Given the description of an element on the screen output the (x, y) to click on. 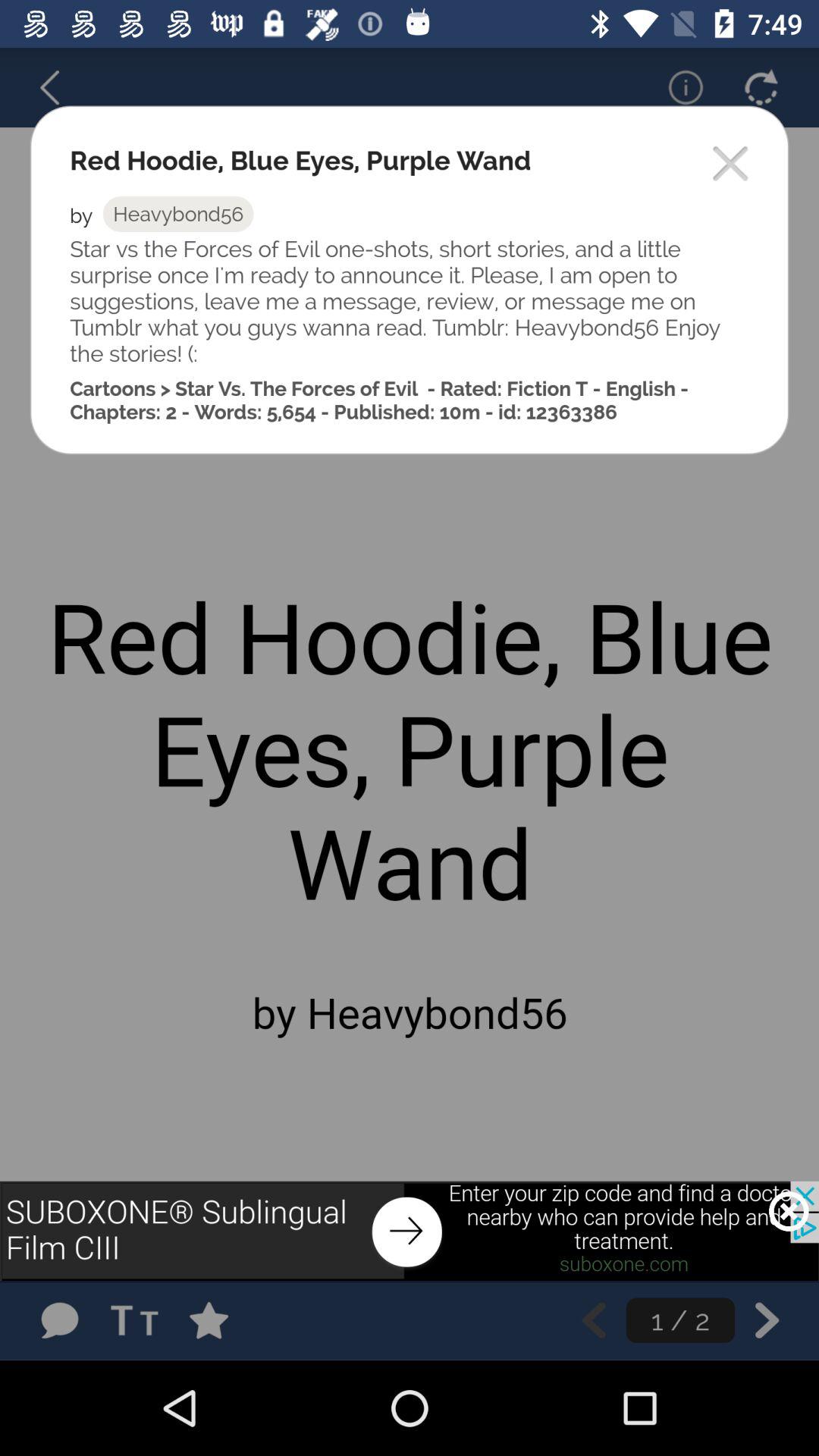
pop-up advertisement banner (409, 1230)
